Given the description of an element on the screen output the (x, y) to click on. 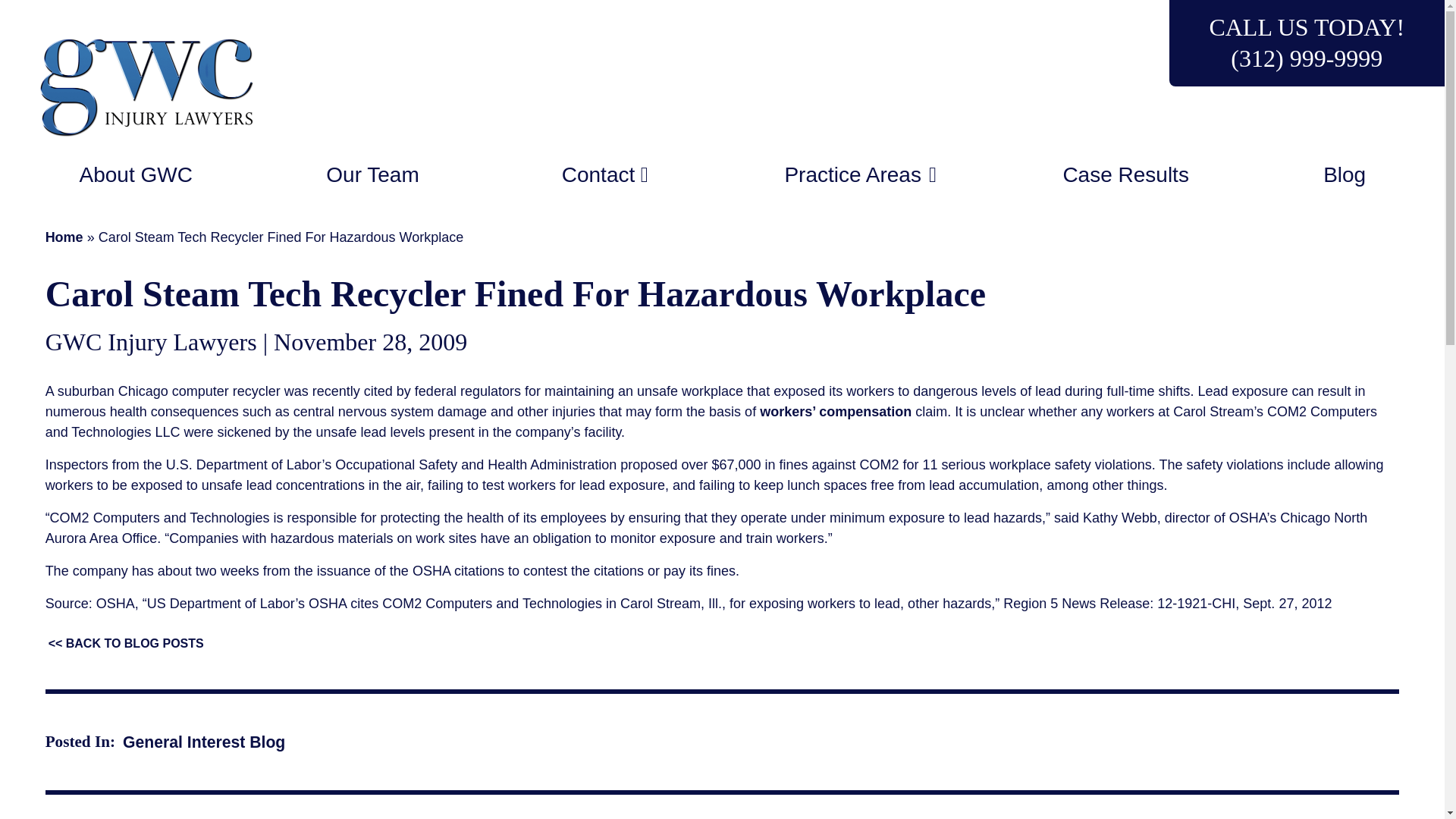
Toggle Menu (643, 175)
Contact (591, 175)
Contact (643, 175)
Our Team (372, 175)
Our Team (372, 175)
About GWC (135, 175)
About GWC (135, 175)
